Given the description of an element on the screen output the (x, y) to click on. 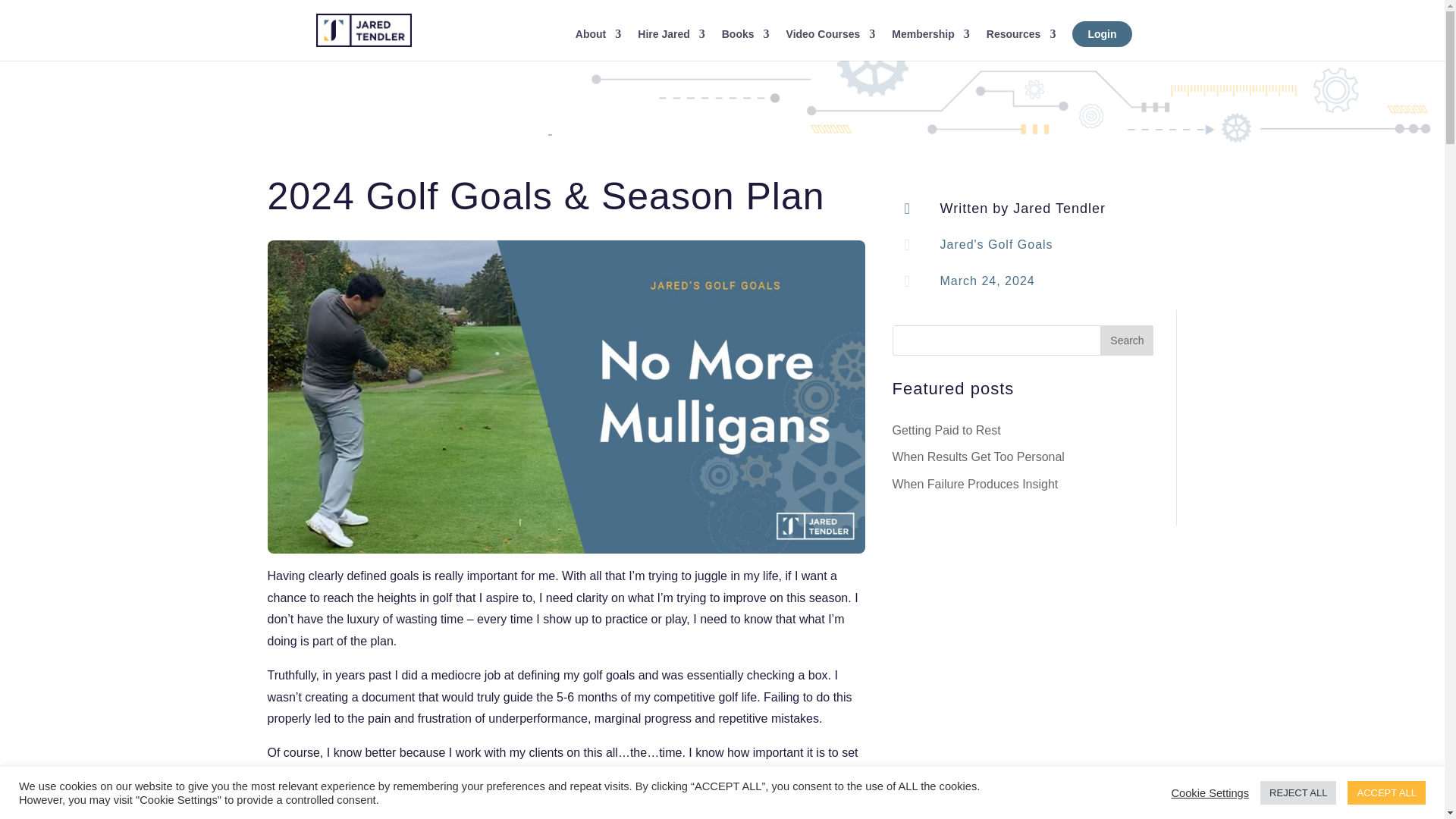
Resources (1022, 44)
Books (746, 44)
Membership (930, 44)
About (598, 44)
Hire Jared (670, 44)
Search (1126, 340)
Login (1101, 44)
Video Courses (831, 44)
